Given the description of an element on the screen output the (x, y) to click on. 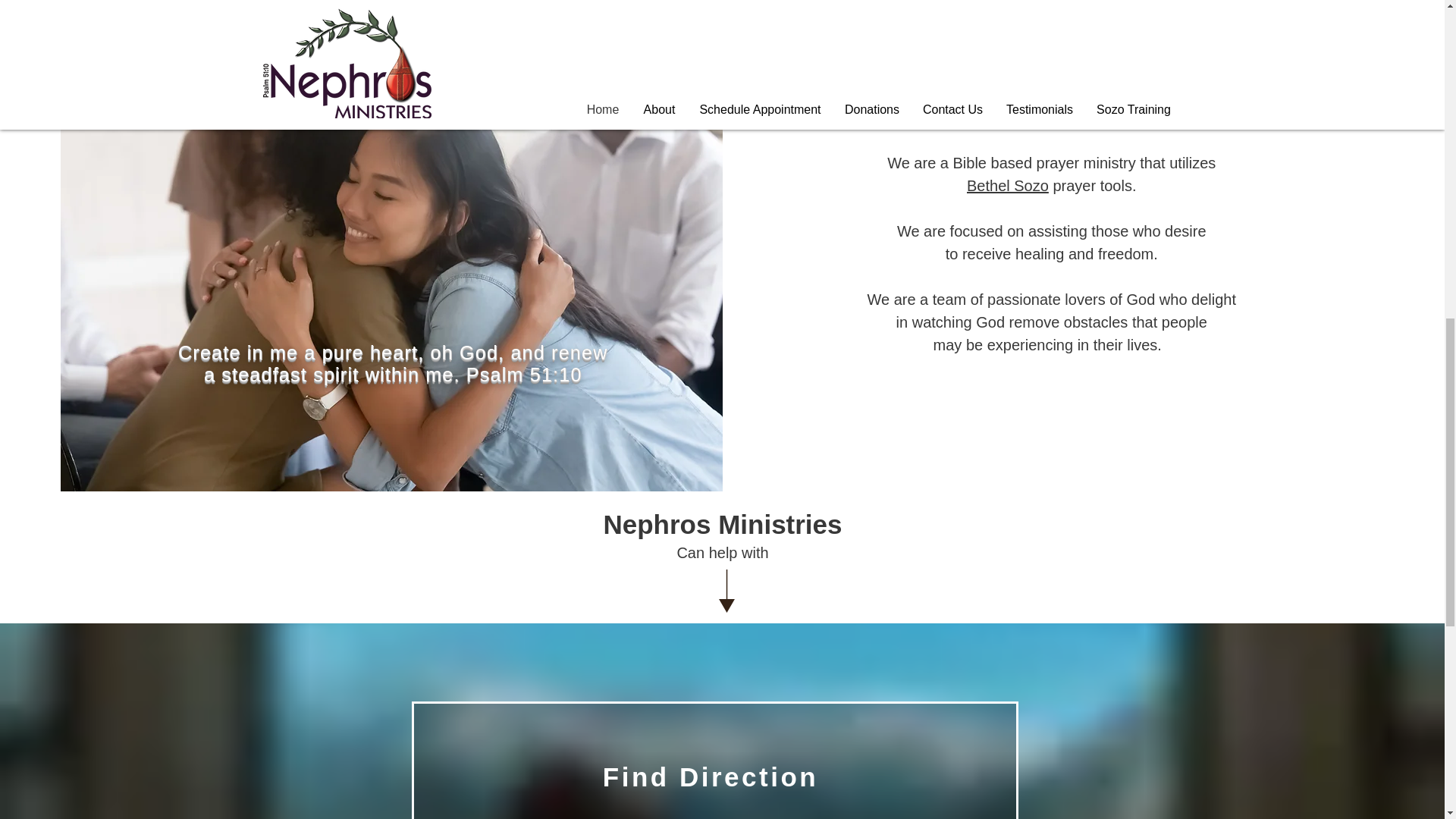
Bethel Sozo (1007, 185)
